Given the description of an element on the screen output the (x, y) to click on. 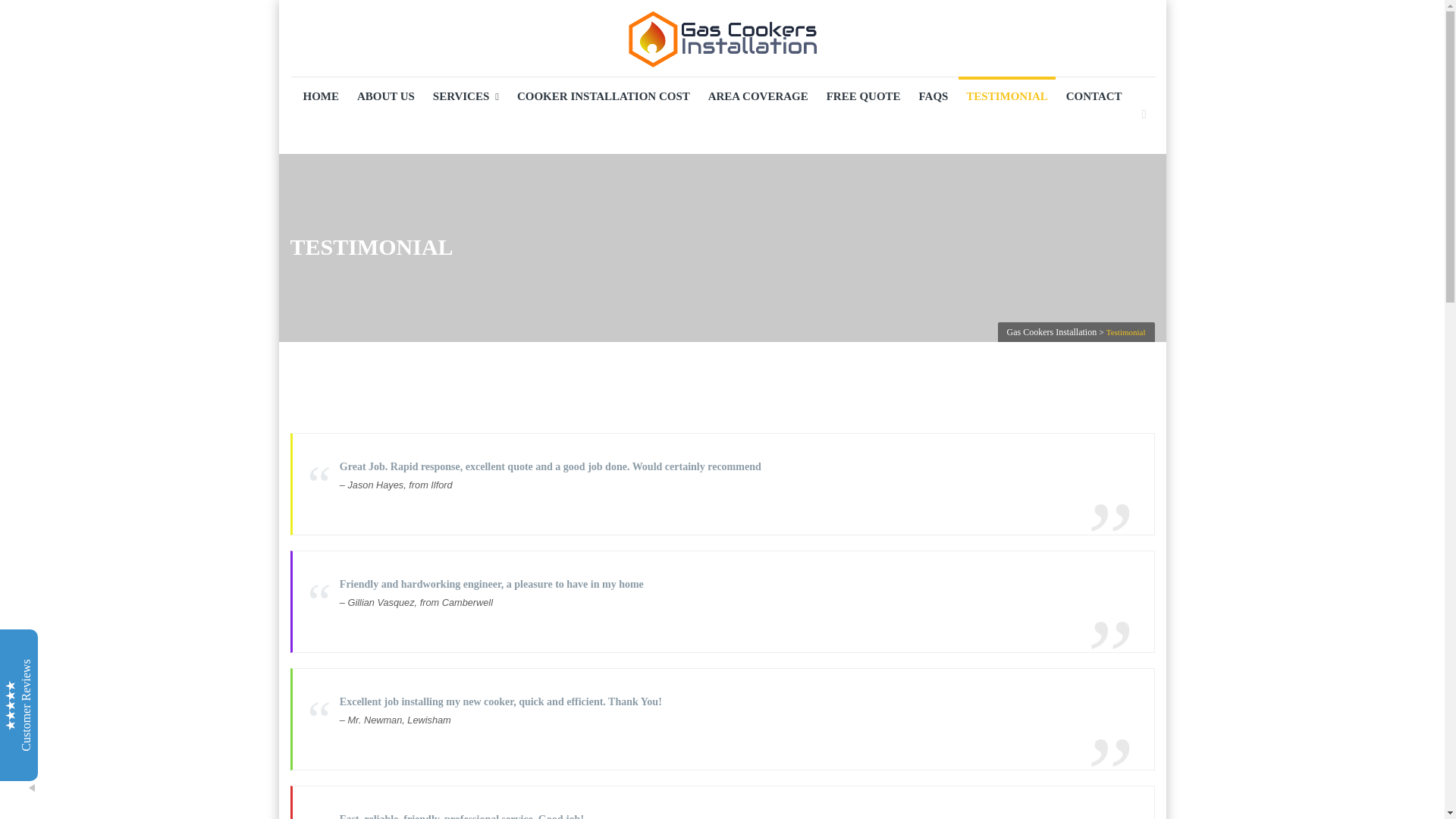
TESTIMONIAL (1006, 95)
COOKER INSTALLATION COST (603, 95)
CONTACT (1093, 95)
ABOUT US (385, 95)
HOME (321, 95)
SERVICES (465, 95)
AREA COVERAGE (757, 95)
FAQS (933, 95)
Go to Gas Cookers Installation. (1052, 331)
FREE QUOTE (863, 95)
